Given the description of an element on the screen output the (x, y) to click on. 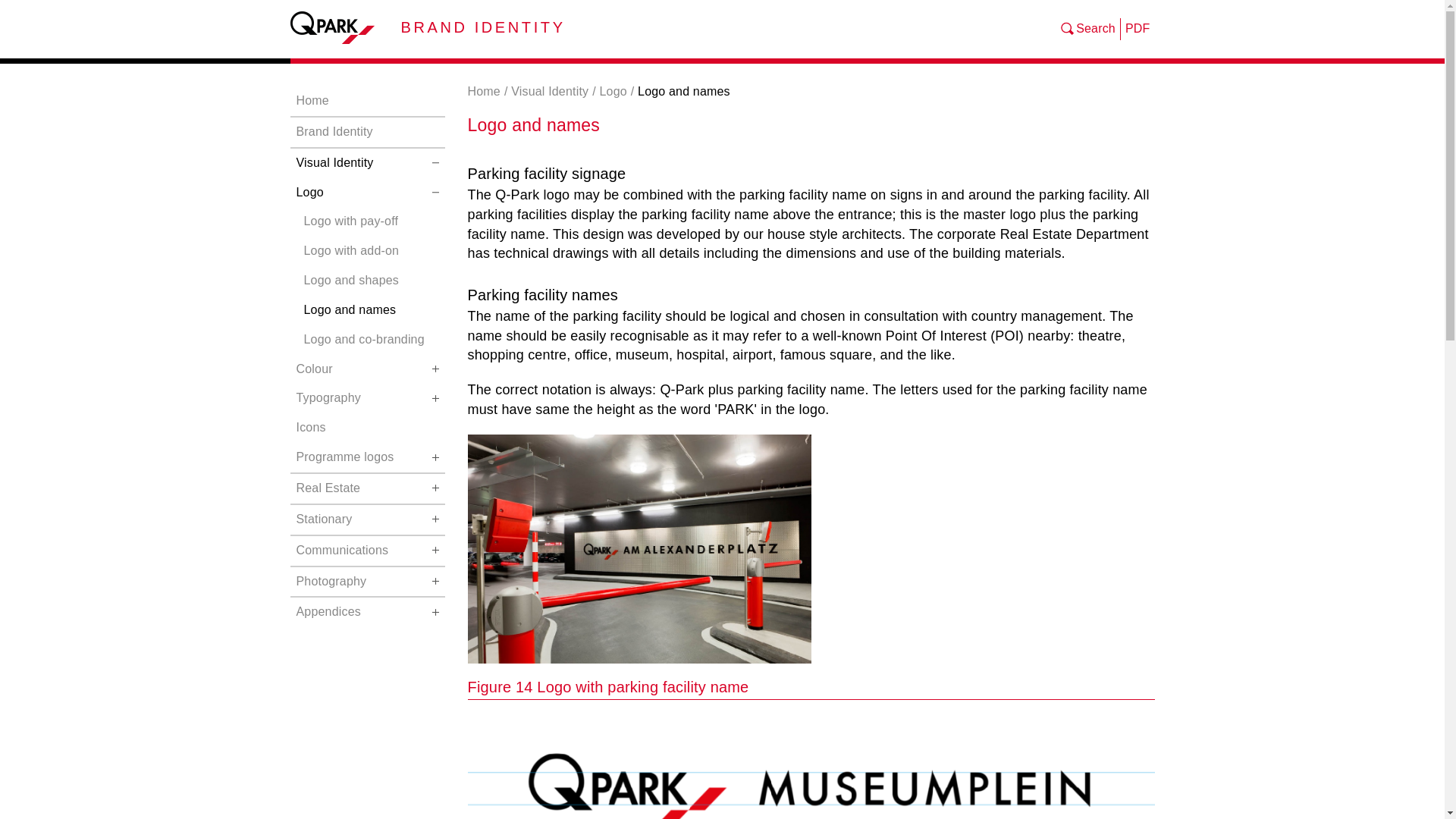
Logo with add-on (370, 251)
Home (483, 91)
Logo and co-branding (370, 339)
Visual Identity (549, 91)
Search (1087, 28)
Logo and shapes (370, 280)
Home (366, 101)
Visual Identity (366, 163)
BRAND IDENTITY (482, 25)
Brand Identity (366, 132)
Logo (612, 91)
Logo with pay-off (370, 221)
PDF (1137, 28)
Logo and names (370, 310)
Logo (366, 193)
